Given the description of an element on the screen output the (x, y) to click on. 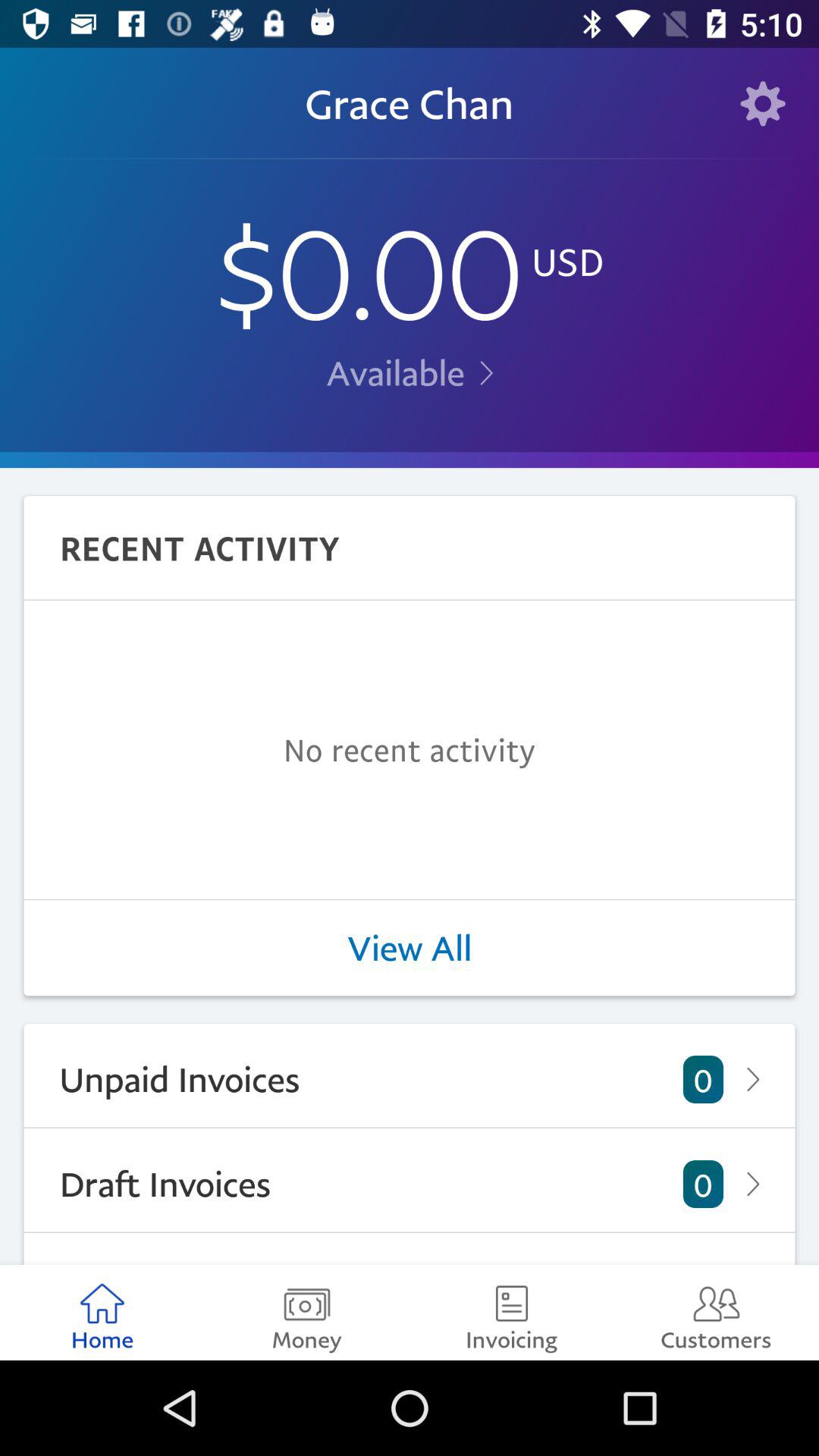
jump to view all icon (409, 947)
